Given the description of an element on the screen output the (x, y) to click on. 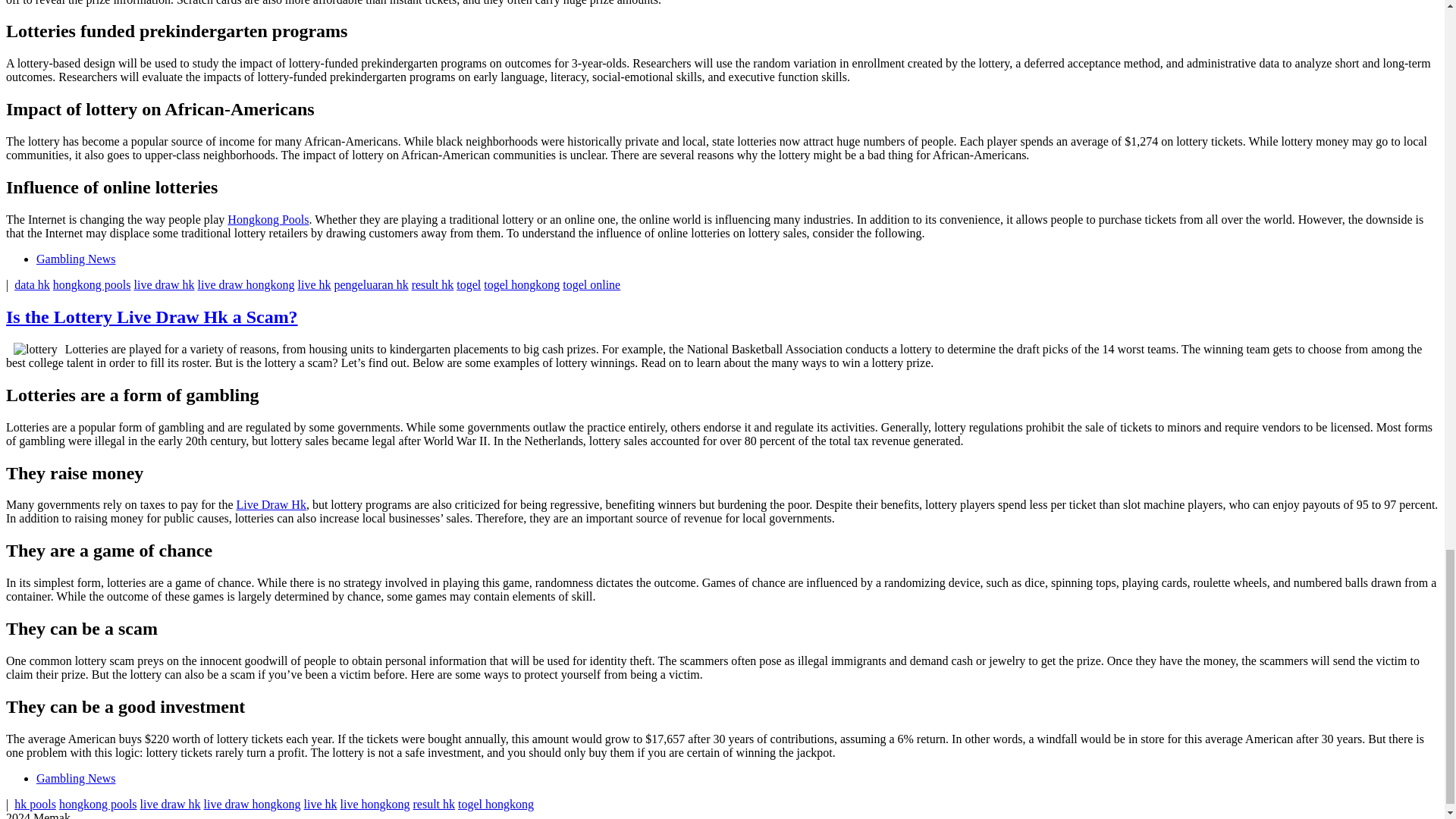
Is the Lottery Live Draw Hk a Scam? (151, 316)
